Given the description of an element on the screen output the (x, y) to click on. 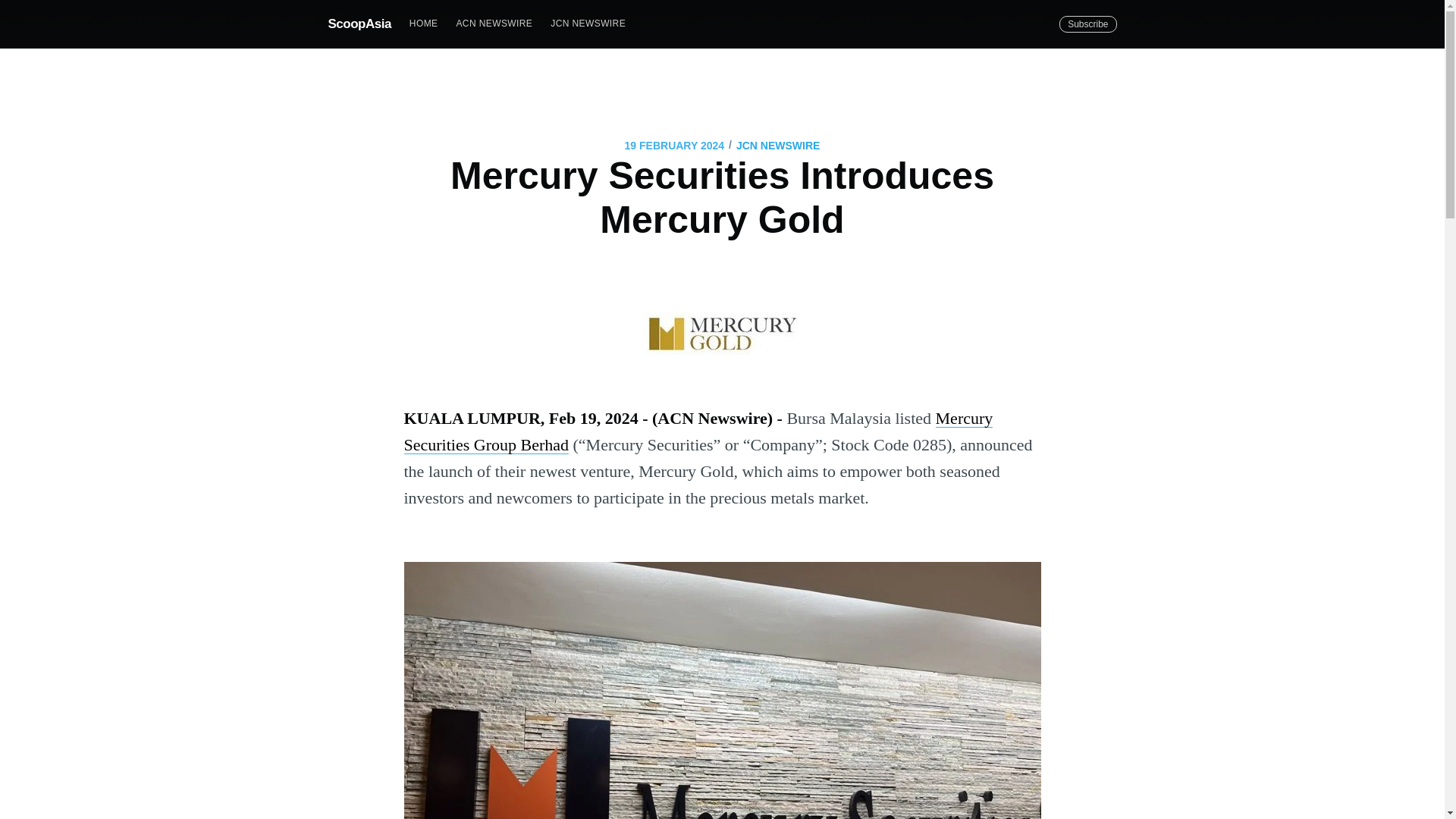
JCN NEWSWIRE (777, 145)
ACN NEWSWIRE (493, 23)
Subscribe (1087, 23)
HOME (423, 23)
ScoopAsia (358, 23)
Mercury Securities Group Berhad (697, 431)
JCN NEWSWIRE (587, 23)
